Given the description of an element on the screen output the (x, y) to click on. 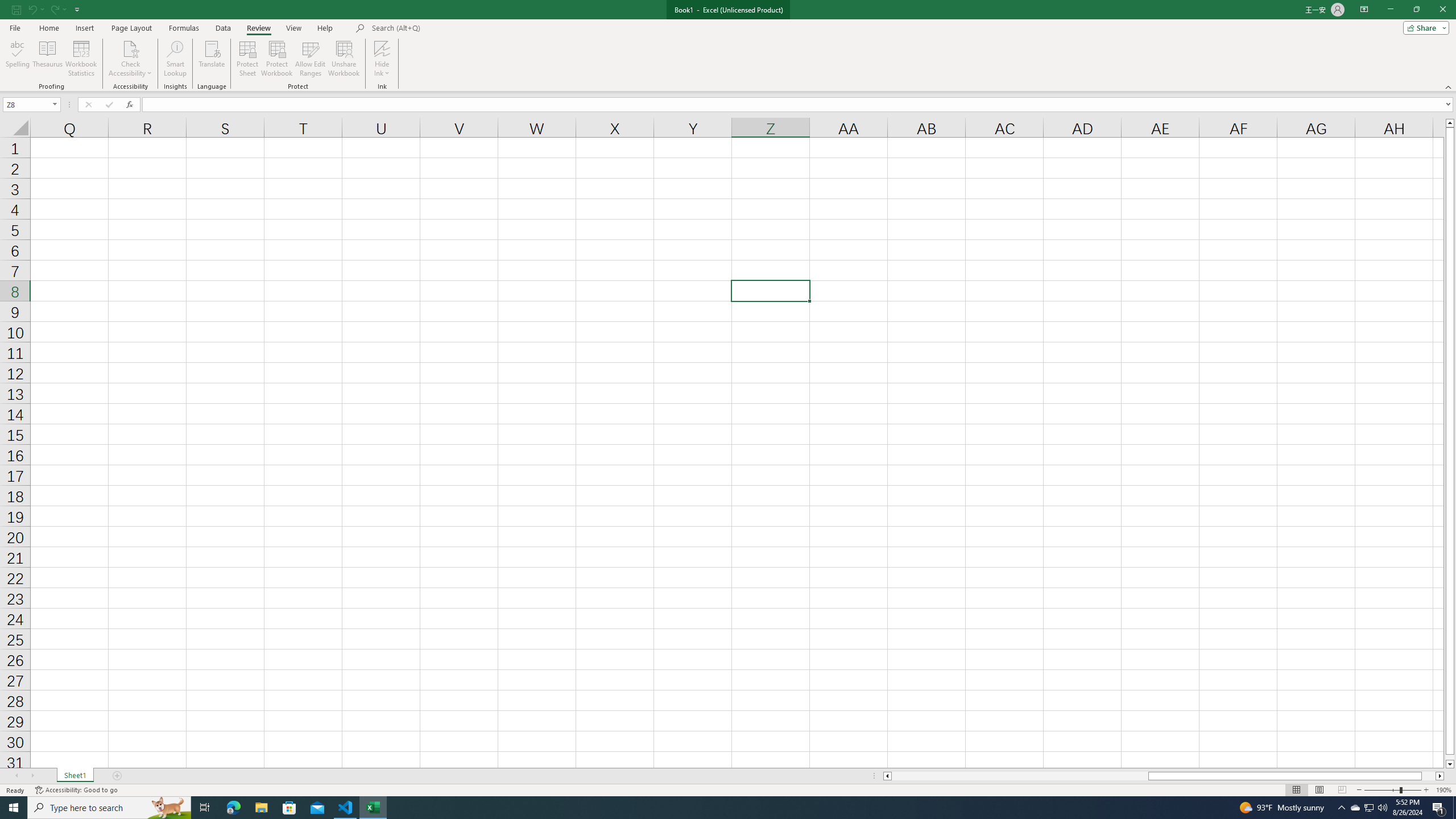
Allow Edit Ranges (310, 58)
Check Accessibility (129, 58)
Smart Lookup (175, 58)
